Given the description of an element on the screen output the (x, y) to click on. 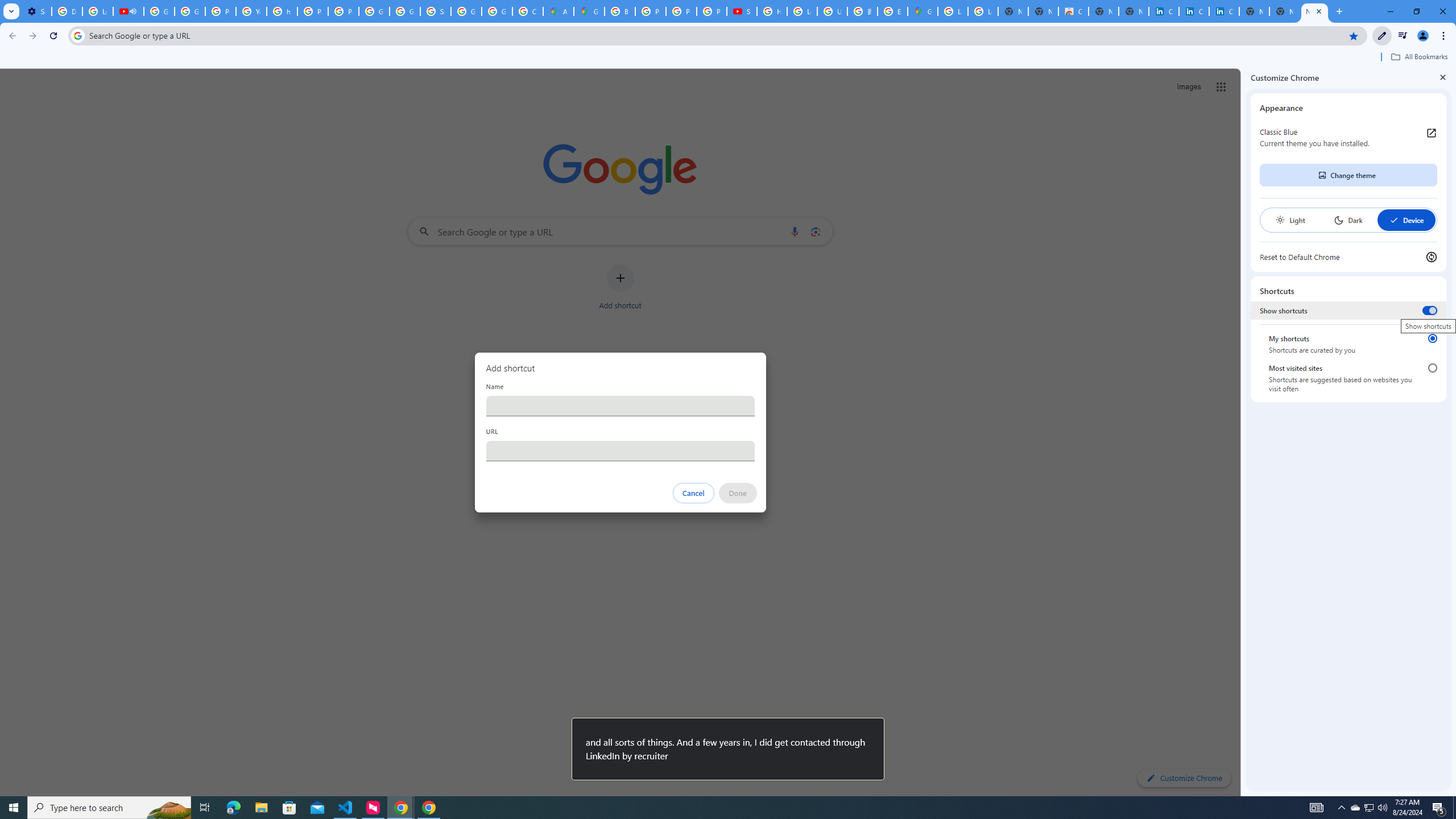
New Tab (1314, 11)
Customize Chrome (1382, 35)
Classic Blue Current theme you have installed. (1347, 137)
Bookmarks (728, 58)
Change theme (1348, 174)
Chrome Web Store (1072, 11)
How Chrome protects your passwords - Google Chrome Help (771, 11)
Blogger Policies and Guidelines - Transparency Center (619, 11)
